Given the description of an element on the screen output the (x, y) to click on. 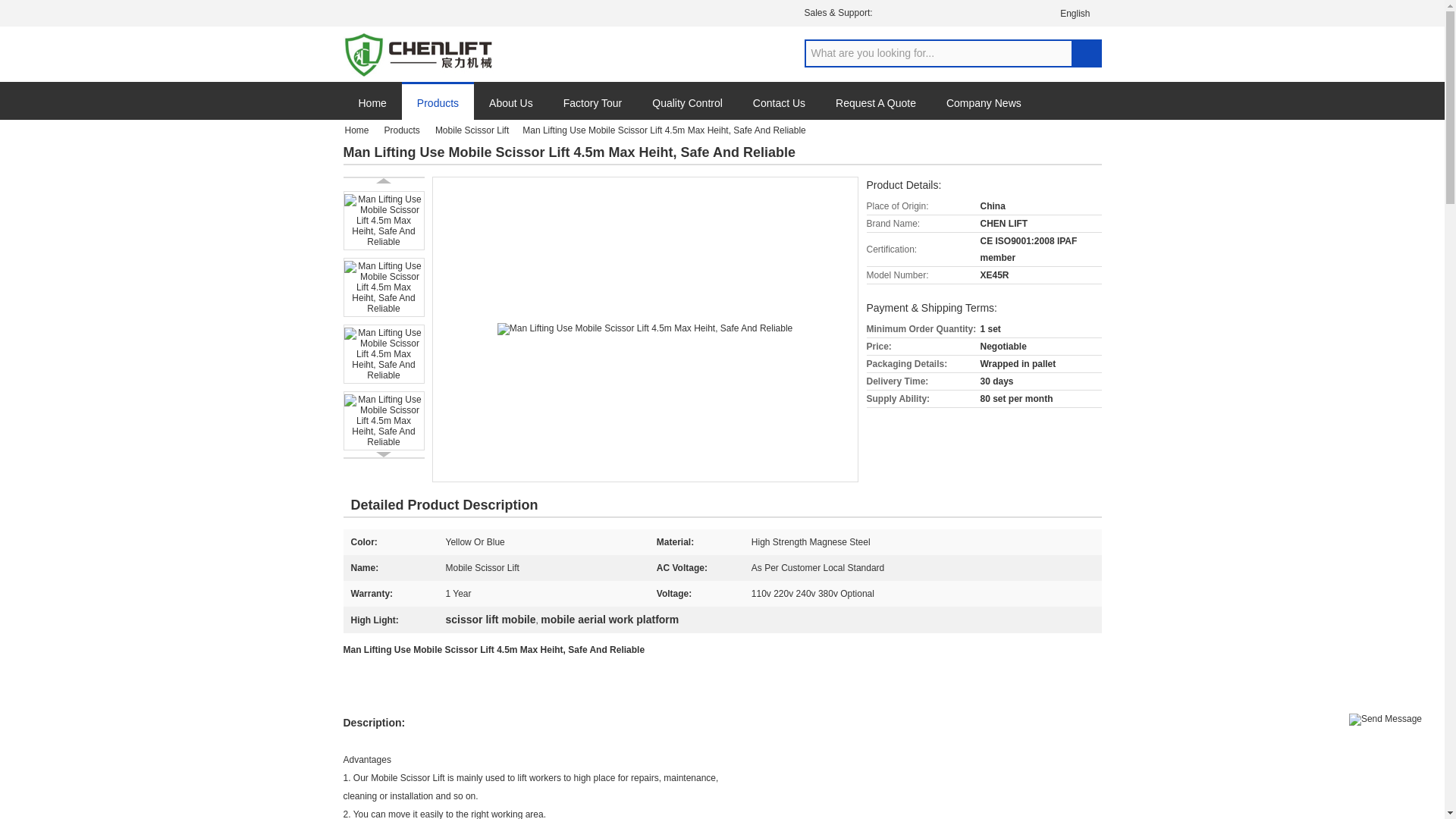
Products (403, 130)
Contact Us (779, 109)
Factory Tour (592, 109)
Company News (983, 109)
Home (371, 109)
Quality Control (687, 109)
Home (360, 130)
Products (437, 104)
Search (1085, 53)
Mobile Scissor Lift (473, 130)
